Given the description of an element on the screen output the (x, y) to click on. 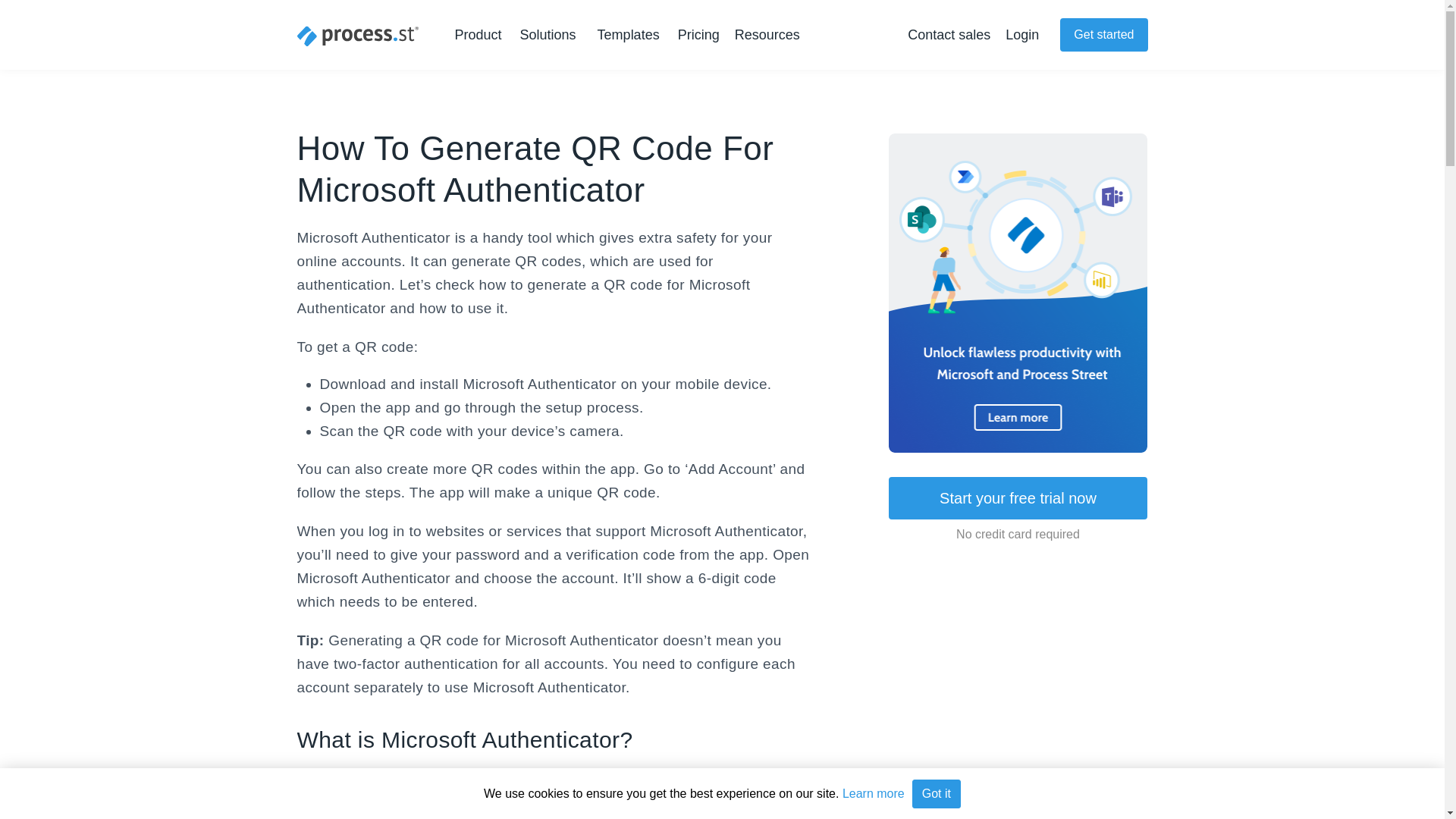
Process Street (358, 35)
Get started (1103, 34)
Contact sales (948, 34)
Resources (770, 34)
Login (1022, 34)
Solutions (550, 34)
Pricing (698, 34)
Templates (627, 34)
Product (481, 34)
